Given the description of an element on the screen output the (x, y) to click on. 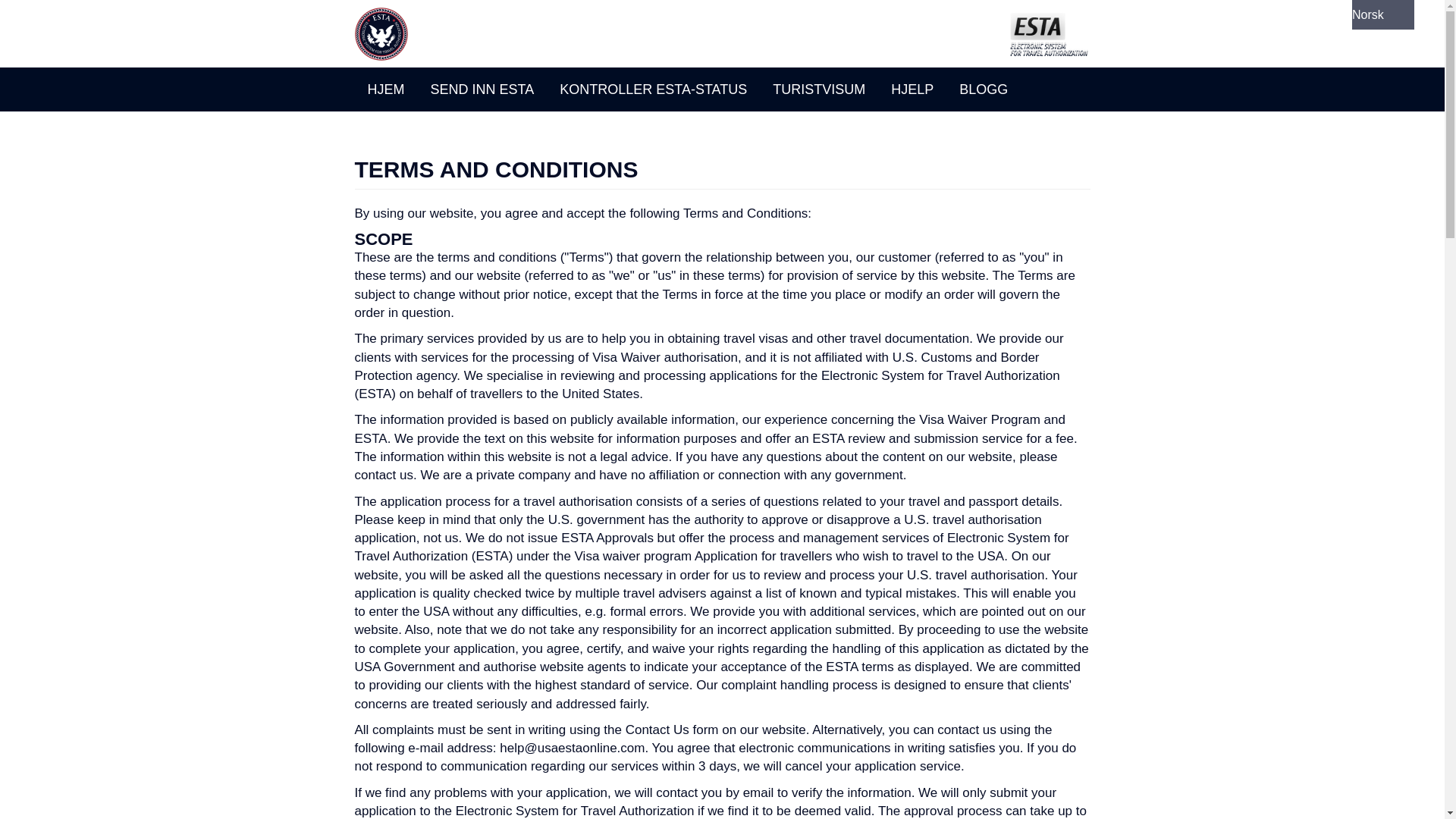
HJELP (911, 89)
HJEM (386, 89)
BLOGG (983, 89)
SEND INN ESTA (481, 89)
TURISTVISUM (818, 89)
KONTROLLER ESTA-STATUS (653, 89)
